Given the description of an element on the screen output the (x, y) to click on. 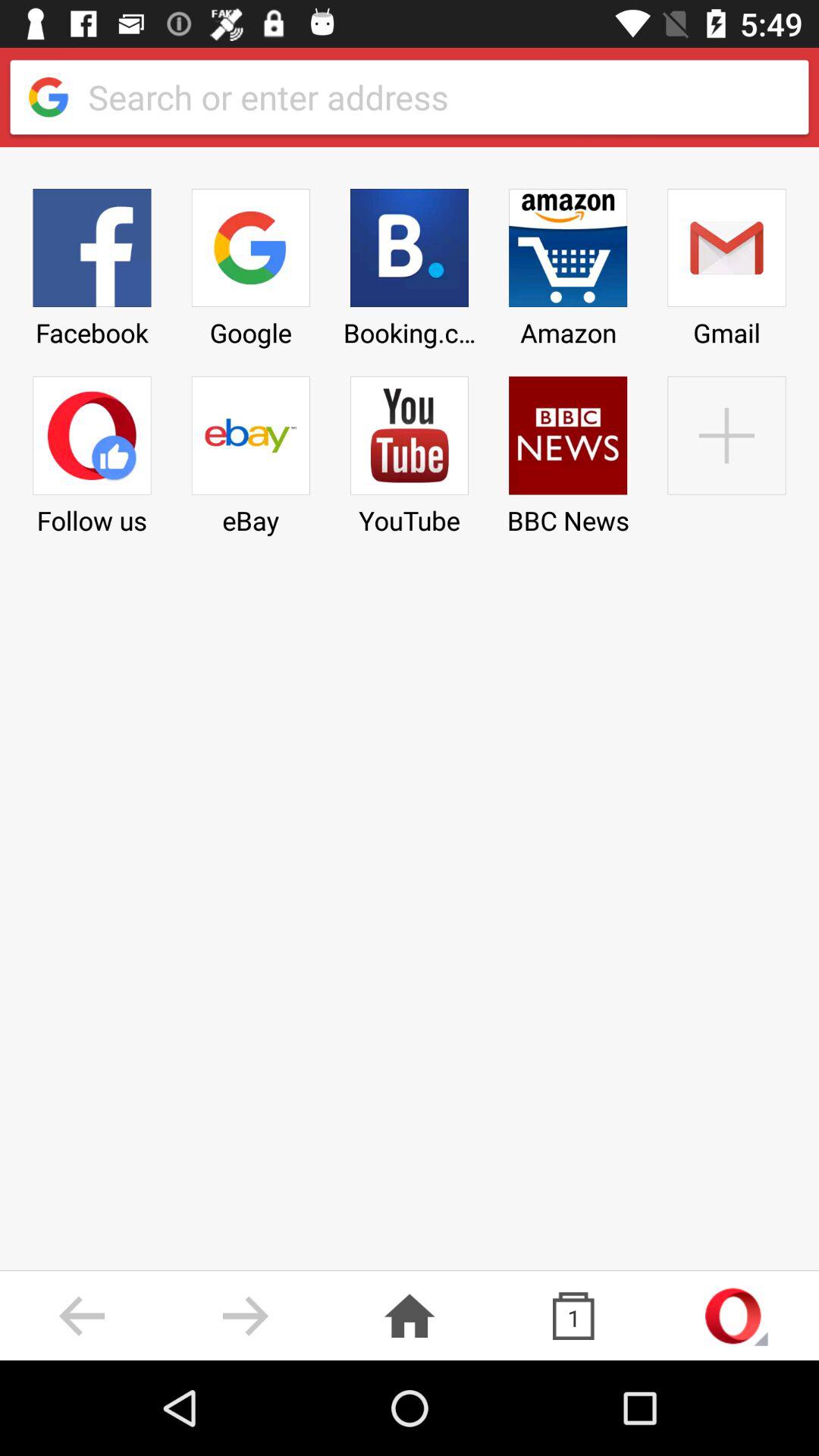
press the google (250, 262)
